Given the description of an element on the screen output the (x, y) to click on. 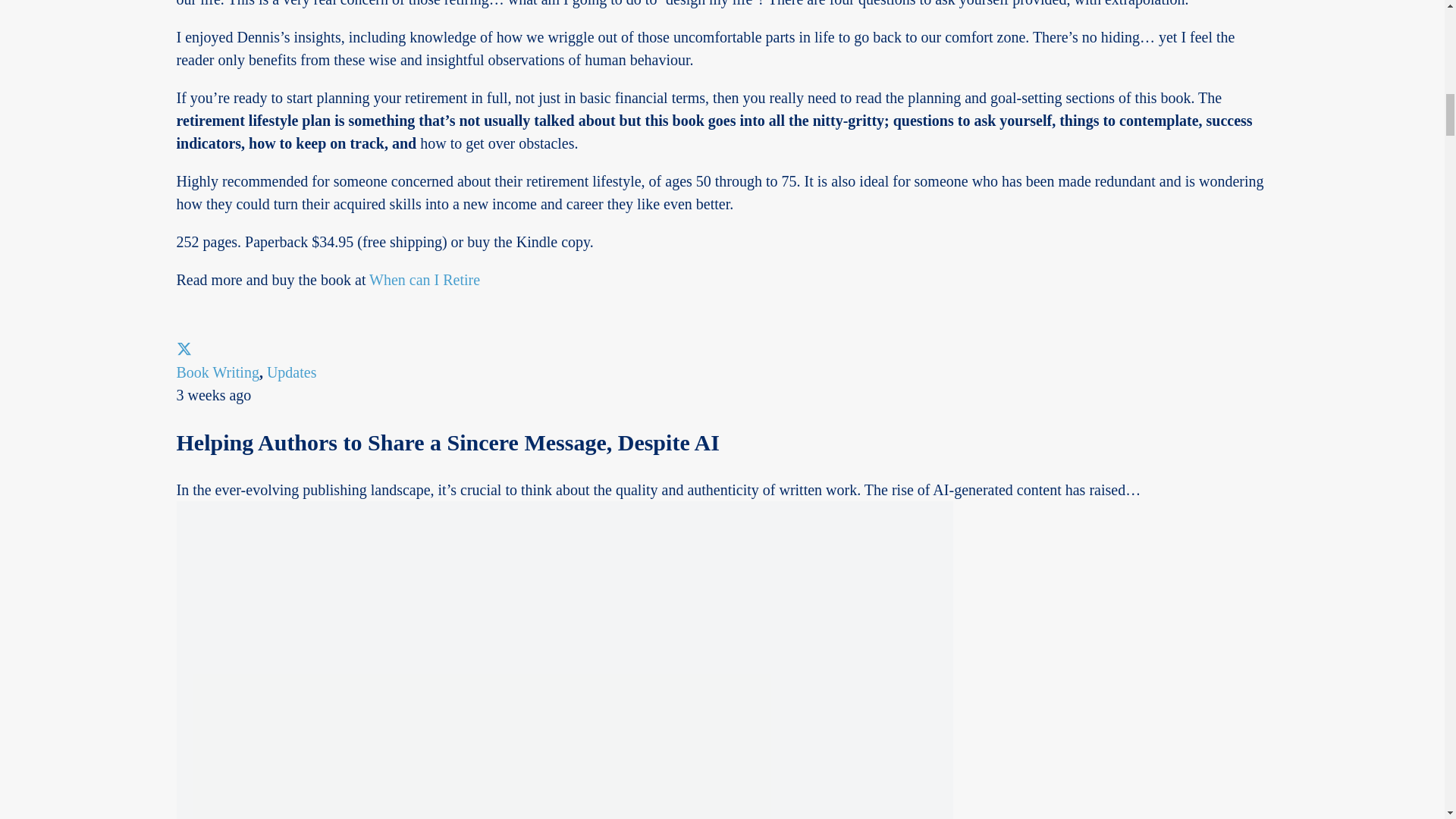
Tweet this (183, 349)
Updates (291, 371)
When can I Retire (424, 279)
Helping Authors to Share a Sincere Message, Despite AI (447, 442)
Book Writing (217, 371)
